Given the description of an element on the screen output the (x, y) to click on. 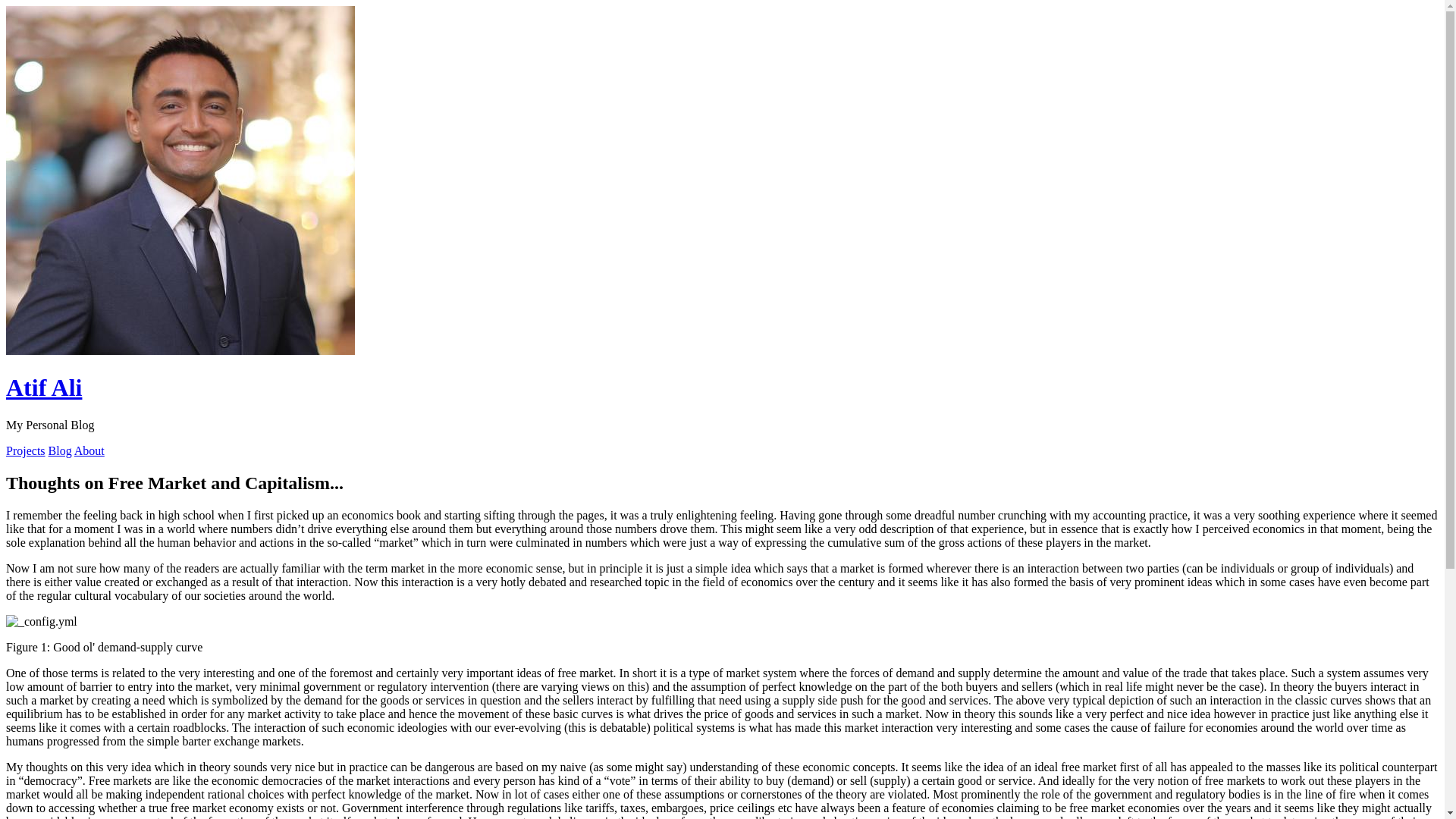
About Element type: text (89, 450)
Projects Element type: text (25, 450)
Atif Ali Element type: text (43, 387)
Figure 1:  Element type: hover (41, 621)
Blog Element type: text (60, 450)
